Given the description of an element on the screen output the (x, y) to click on. 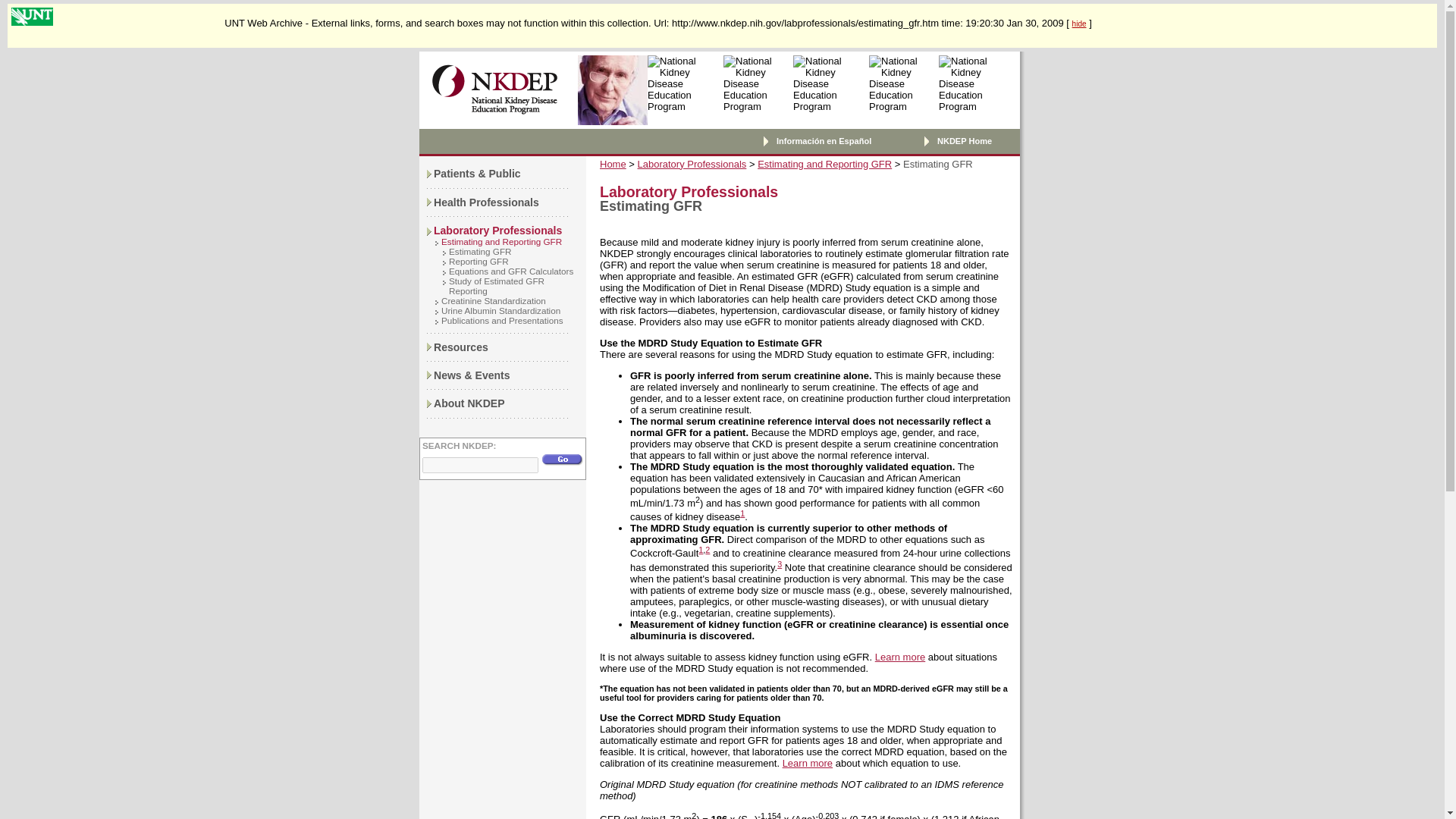
Health Professionals (485, 202)
Publications (460, 346)
News and Events (472, 375)
Resources (460, 346)
Home (612, 163)
Study of Estimated GFR Reporting (496, 285)
Estimating and Reporting GFR (824, 163)
Laboratory Professionals (497, 230)
Equations and GFR Calculators (510, 271)
hide (1078, 23)
